Given the description of an element on the screen output the (x, y) to click on. 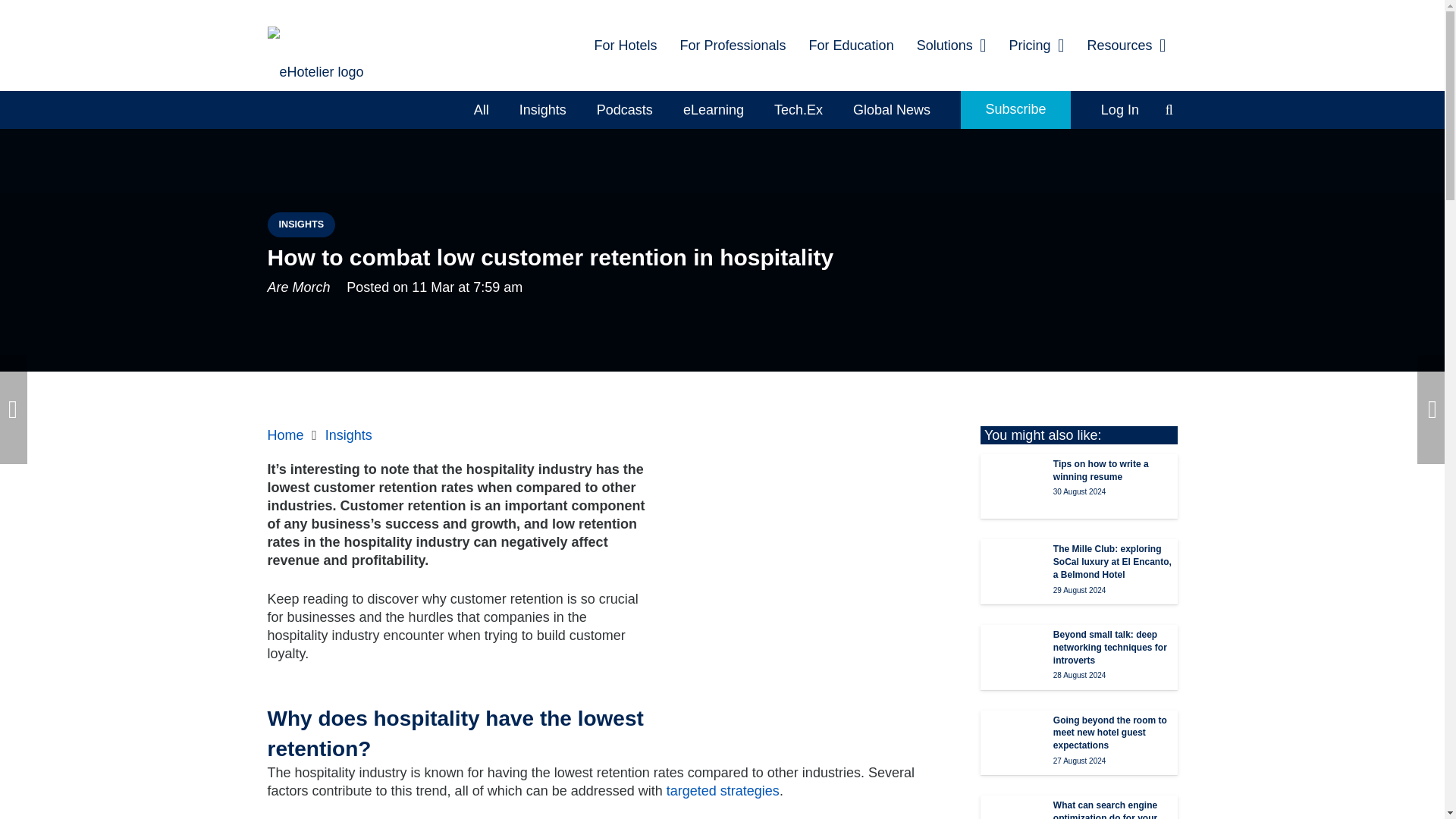
Podcasts (624, 109)
Log In (1120, 109)
Solutions (951, 45)
Global News (891, 109)
Tech.Ex (798, 109)
For Hotels (625, 45)
For Education (851, 45)
Subscribe (1015, 109)
INSIGHTS (300, 224)
eLearning (713, 109)
